Given the description of an element on the screen output the (x, y) to click on. 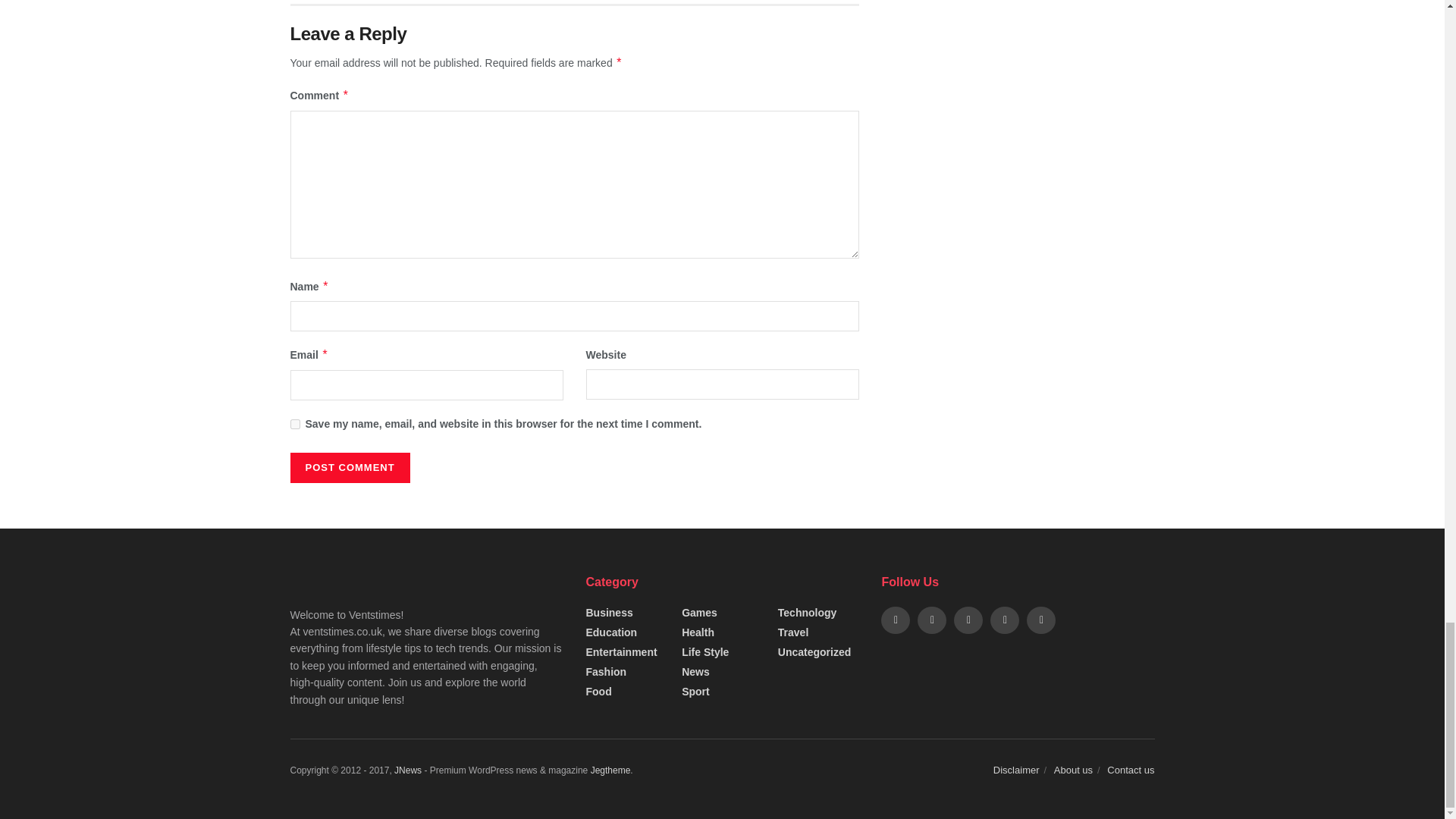
yes (294, 424)
Jegtheme (610, 769)
Post Comment (349, 467)
